Given the description of an element on the screen output the (x, y) to click on. 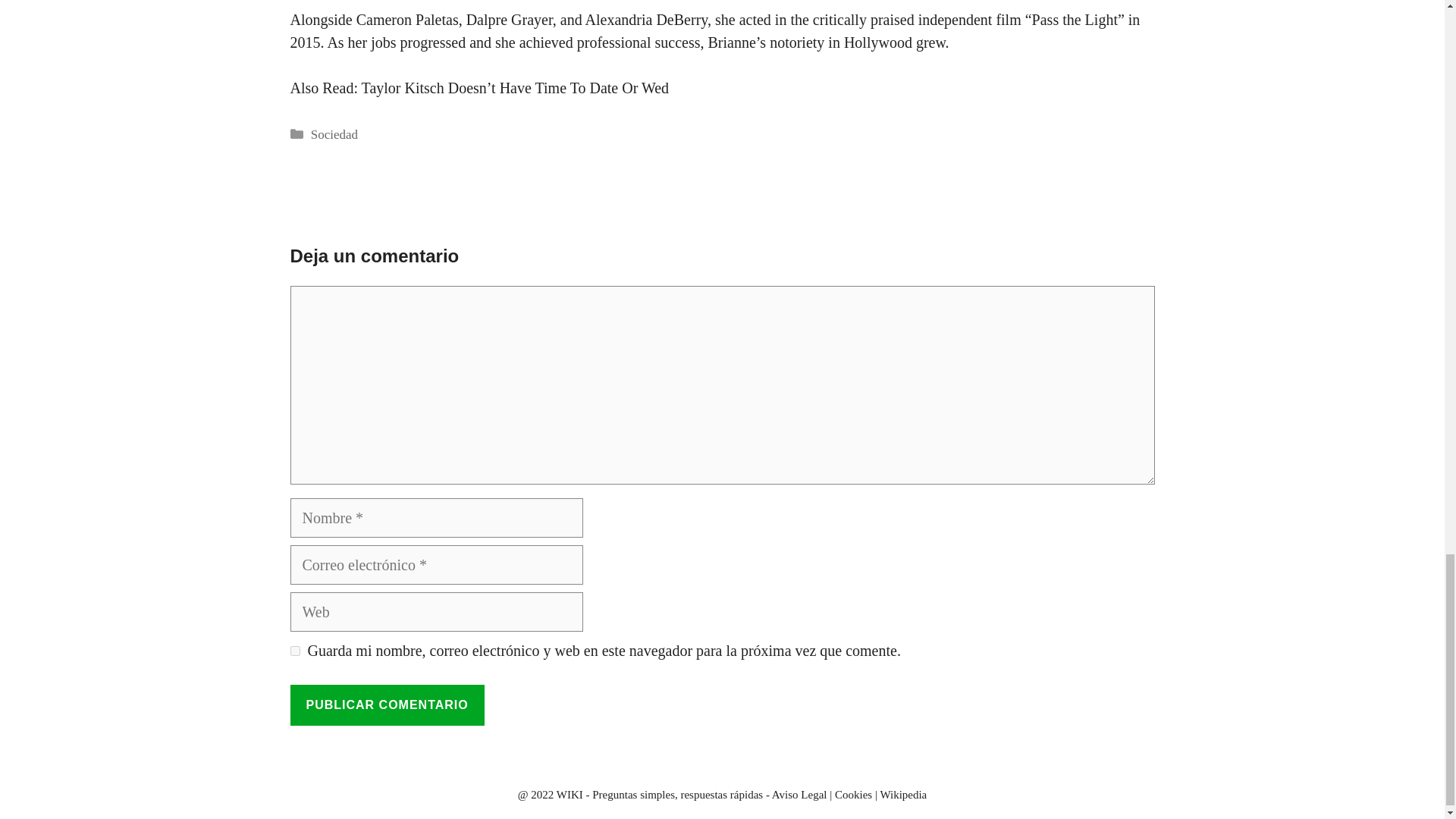
Wikipedia (902, 794)
Publicar comentario (386, 704)
Sociedad (334, 134)
Cookies (853, 794)
Publicar comentario (386, 704)
yes (294, 651)
Aviso Legal (799, 794)
